Given the description of an element on the screen output the (x, y) to click on. 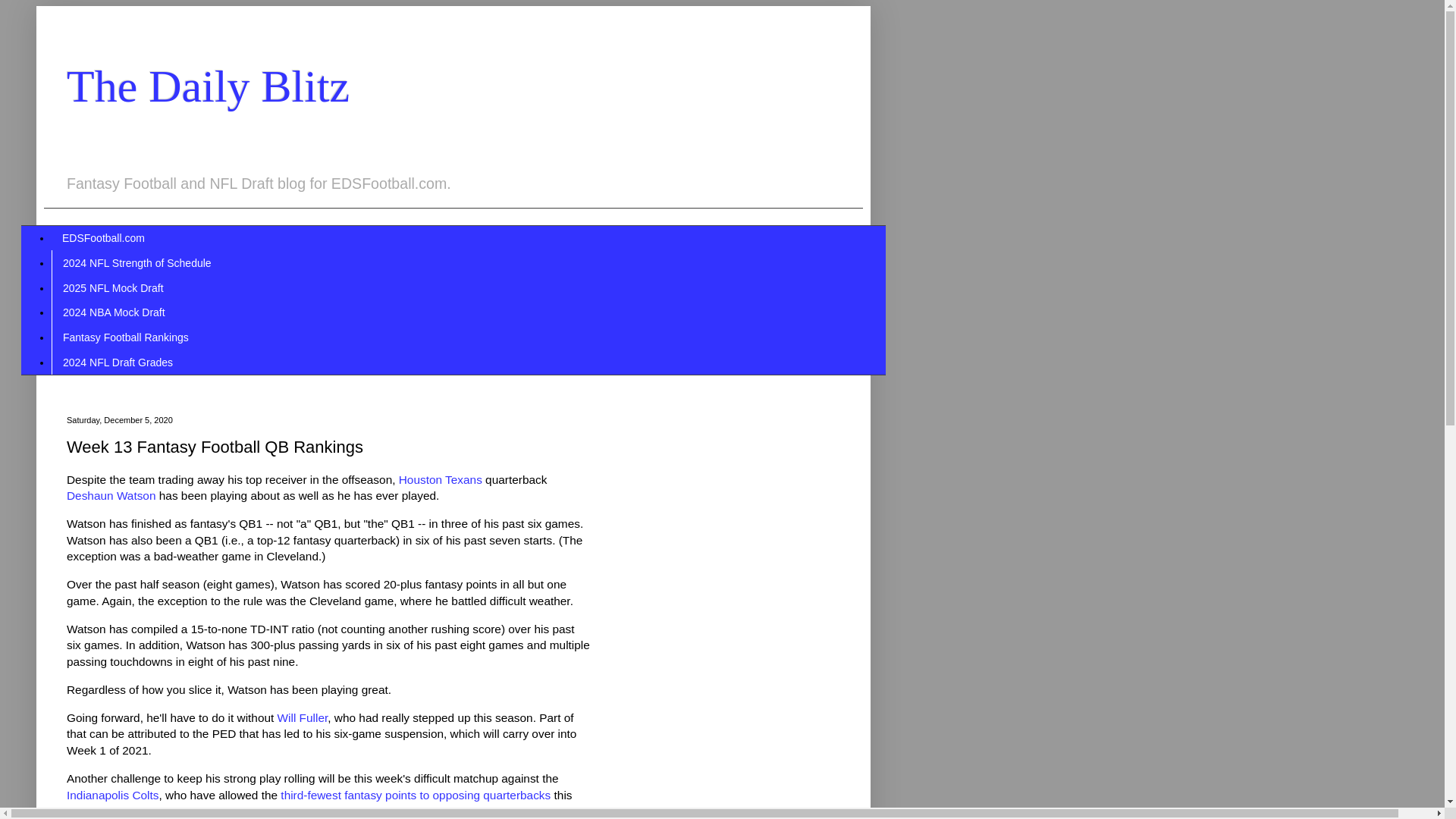
2024 NFL Draft Grades (116, 361)
2024 NBA Mock Draft (113, 312)
Fantasy Football Rankings (124, 337)
EDSFootball.com (102, 238)
Deshaun Watson (110, 495)
2024 NFL Strength of Schedule (136, 262)
The Daily Blitz (207, 86)
Indianapolis Colts (112, 794)
2025 NFL Mock Draft (112, 287)
Houston Texans (439, 479)
